Given the description of an element on the screen output the (x, y) to click on. 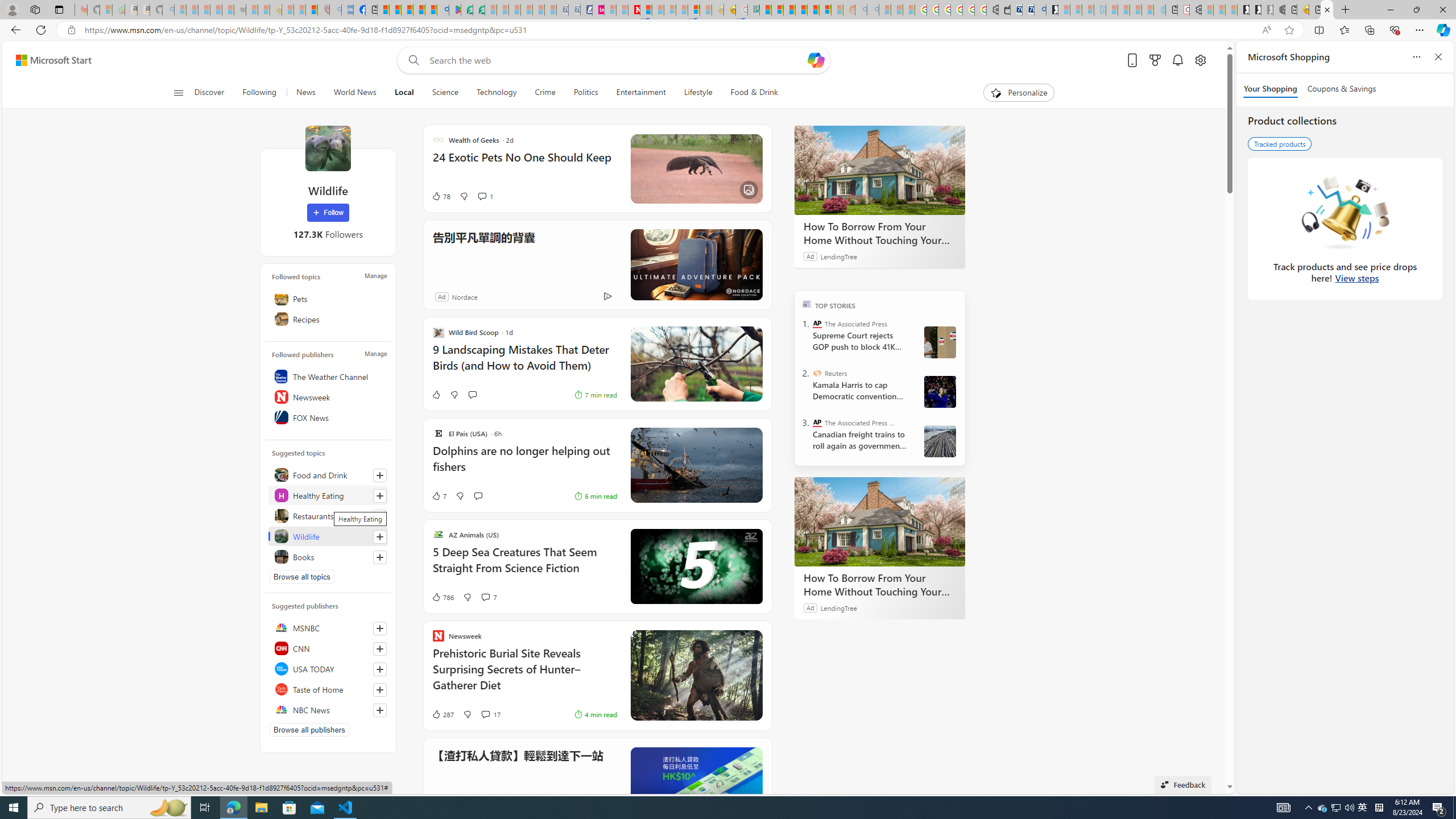
 Canada Railroads Unions (940, 441)
Wallet (1003, 9)
View comments 17 Comment (490, 714)
786 Like (442, 597)
Follow (328, 212)
